Given the description of an element on the screen output the (x, y) to click on. 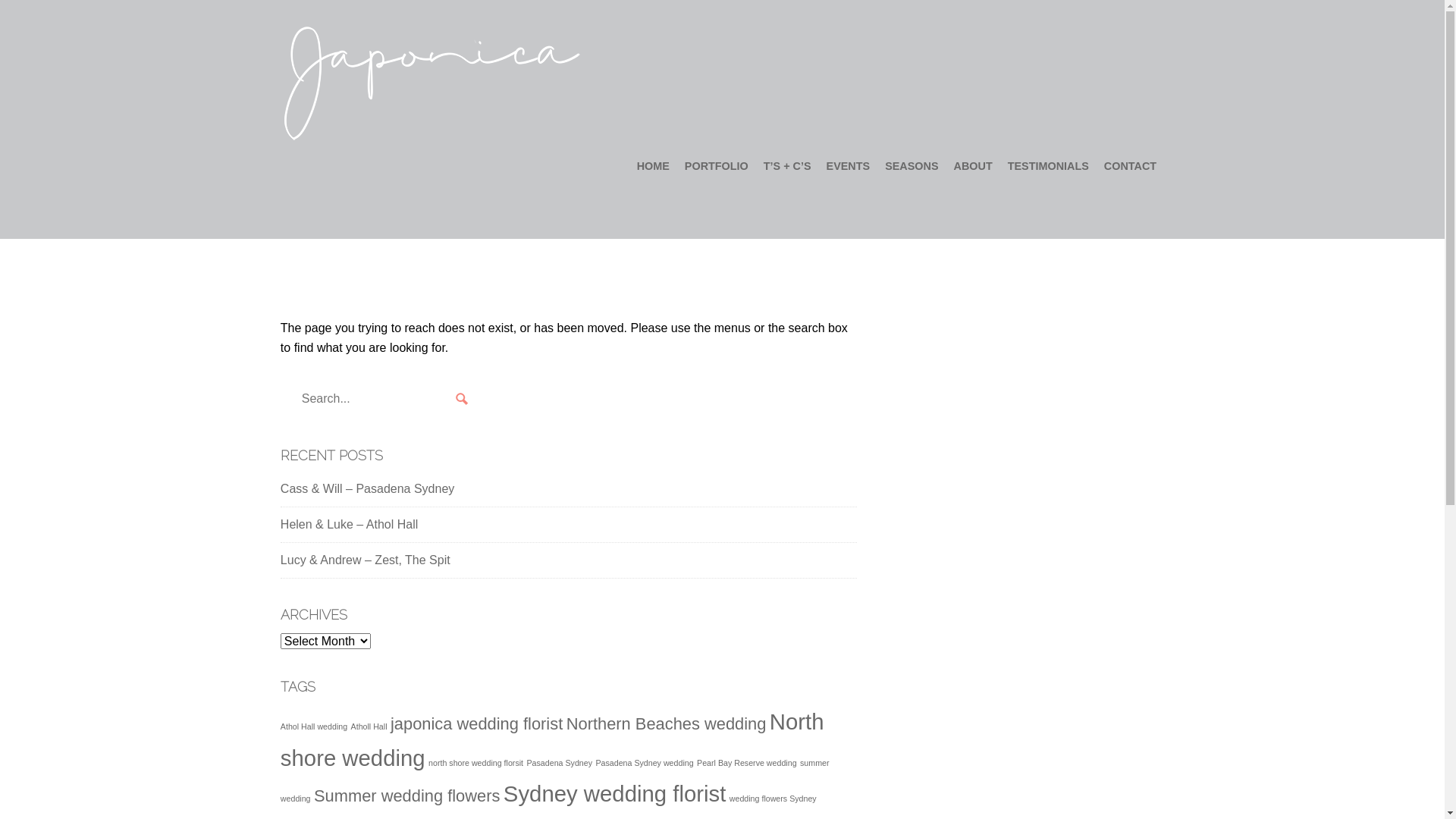
Search Element type: text (462, 399)
Northern Beaches wedding Element type: text (666, 723)
ABOUT Element type: text (972, 166)
japonica wedding florist Element type: text (476, 723)
Sydney wedding florist Element type: text (614, 793)
PORTFOLIO Element type: text (716, 166)
summer wedding Element type: text (554, 780)
Pasadena Sydney wedding Element type: text (644, 762)
EVENTS Element type: text (848, 166)
north shore wedding florsit Element type: text (475, 762)
Pearl Bay Reserve wedding Element type: text (746, 762)
North shore wedding Element type: text (552, 739)
CONTACT Element type: text (1130, 166)
Athol Hall wedding Element type: text (313, 726)
Northern Beaches Wedding & Event Florist Element type: hover (431, 83)
HOME Element type: text (653, 166)
TESTIMONIALS Element type: text (1047, 166)
Atholl Hall Element type: text (369, 726)
SEASONS Element type: text (911, 166)
Summer wedding flowers Element type: text (406, 795)
Pasadena Sydney Element type: text (559, 762)
wedding flowers Sydney Element type: text (772, 798)
